Given the description of an element on the screen output the (x, y) to click on. 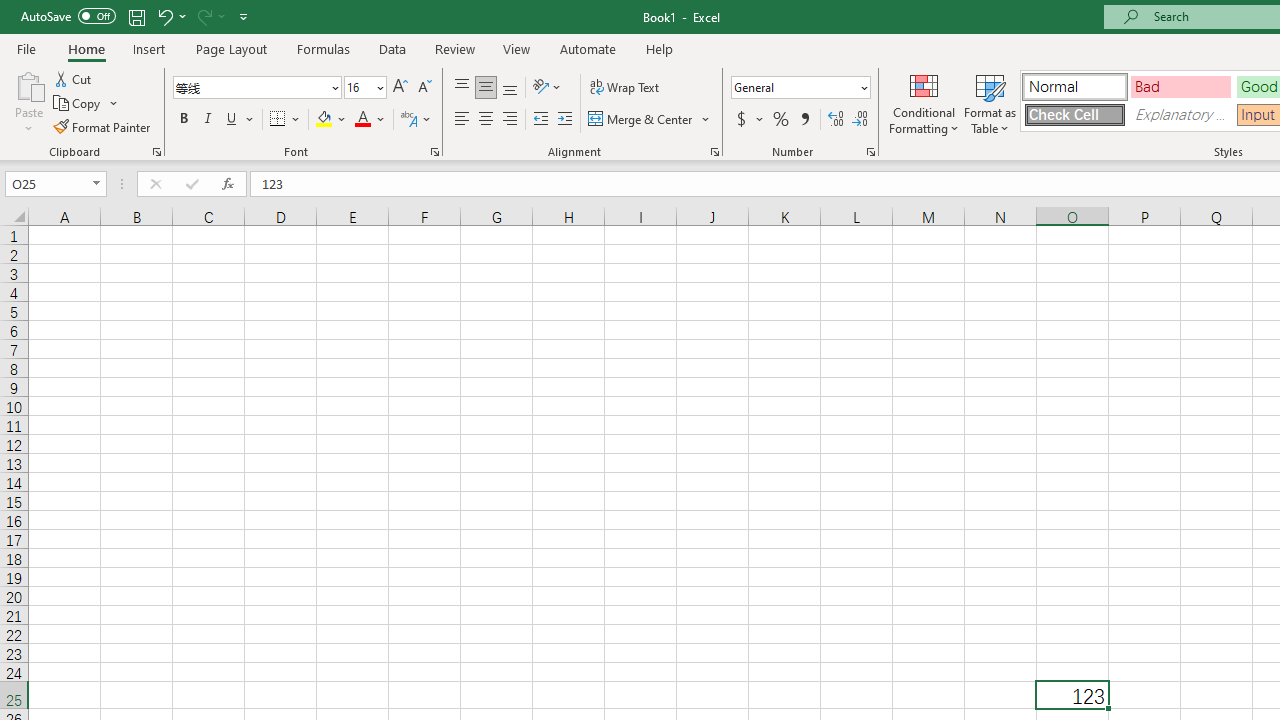
Format Painter (103, 126)
Italic (207, 119)
Conditional Formatting (924, 102)
Top Align (461, 87)
Middle Align (485, 87)
Font Size (365, 87)
Wrap Text (624, 87)
Bad (1180, 86)
Format Cell Alignment (714, 151)
Bottom Align (509, 87)
